Given the description of an element on the screen output the (x, y) to click on. 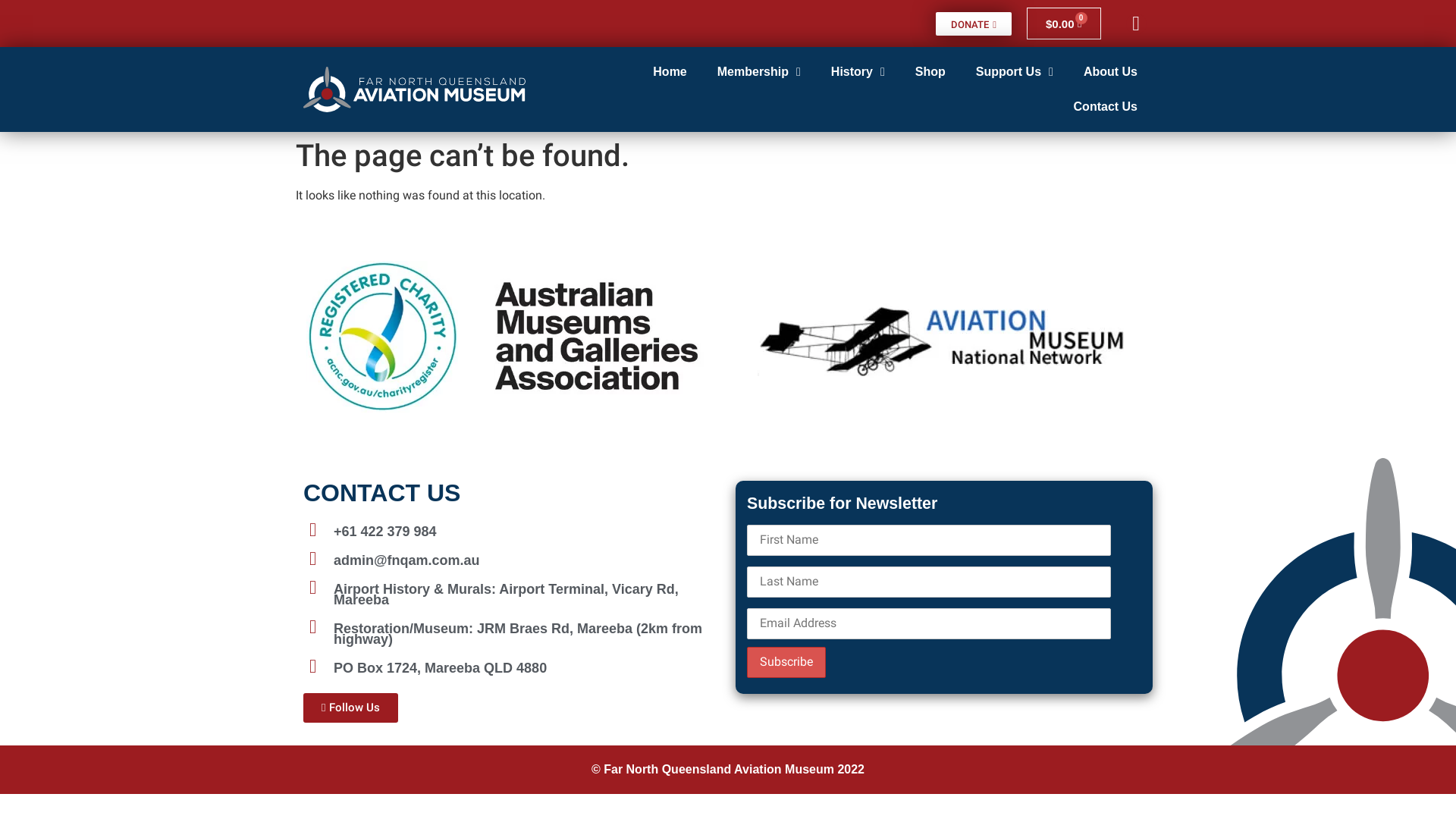
Shop Element type: text (930, 71)
Home Element type: text (669, 71)
Subscribe Element type: text (785, 661)
Membership Element type: text (758, 71)
About Us Element type: text (1110, 71)
Contact Us Element type: text (1105, 106)
$0.00
0 Element type: text (1063, 23)
Follow Us Element type: text (350, 707)
Support Us Element type: text (1014, 71)
History Element type: text (857, 71)
DONATE Element type: text (973, 23)
